Given the description of an element on the screen output the (x, y) to click on. 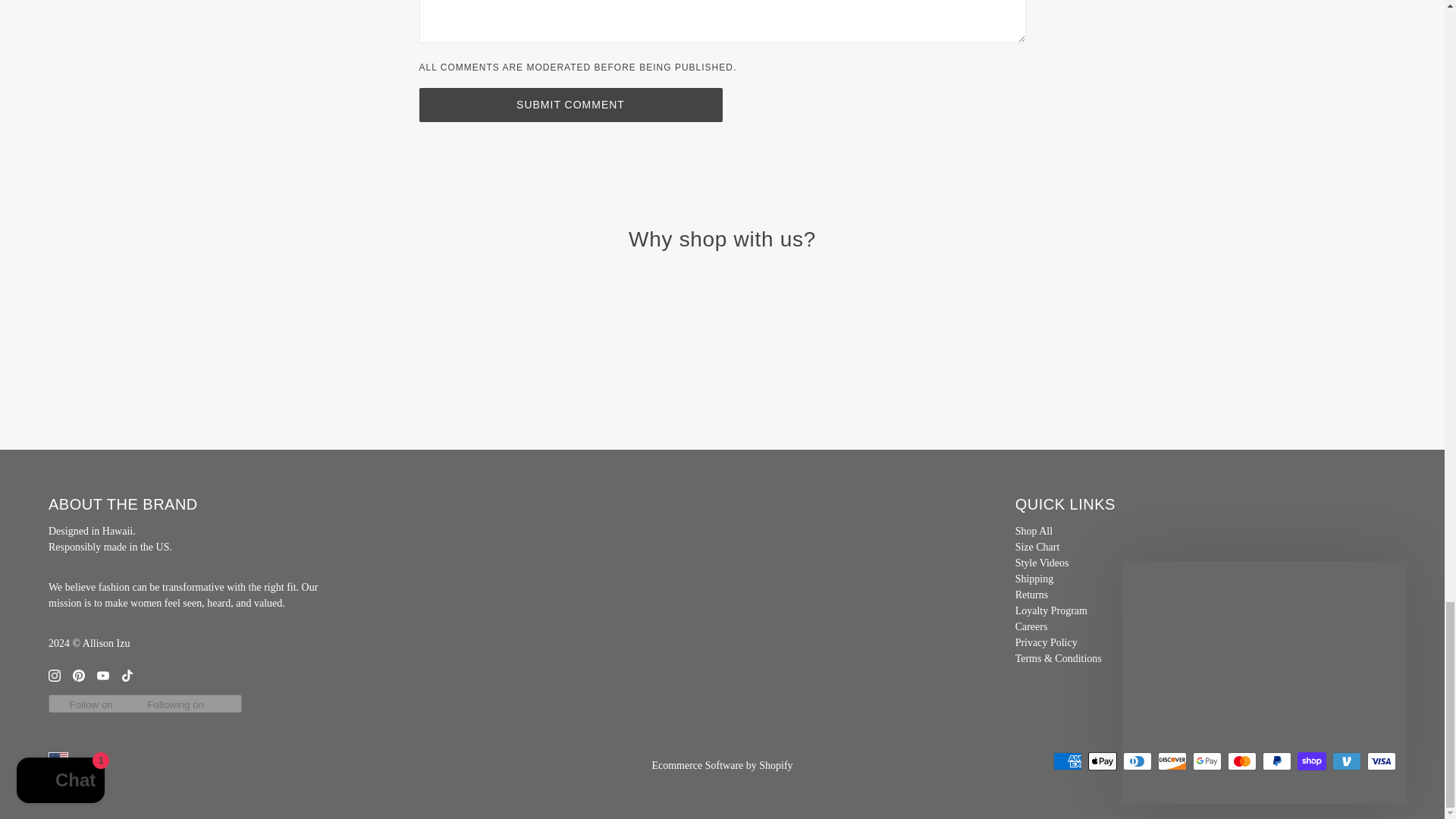
Size Chart (1036, 546)
Style Videos (1041, 562)
Shipping (1034, 578)
Privacy Policy (1045, 642)
Careers (1031, 626)
Shop All (1033, 531)
Returns (1031, 594)
Loyalty Program (1050, 610)
